Given the description of an element on the screen output the (x, y) to click on. 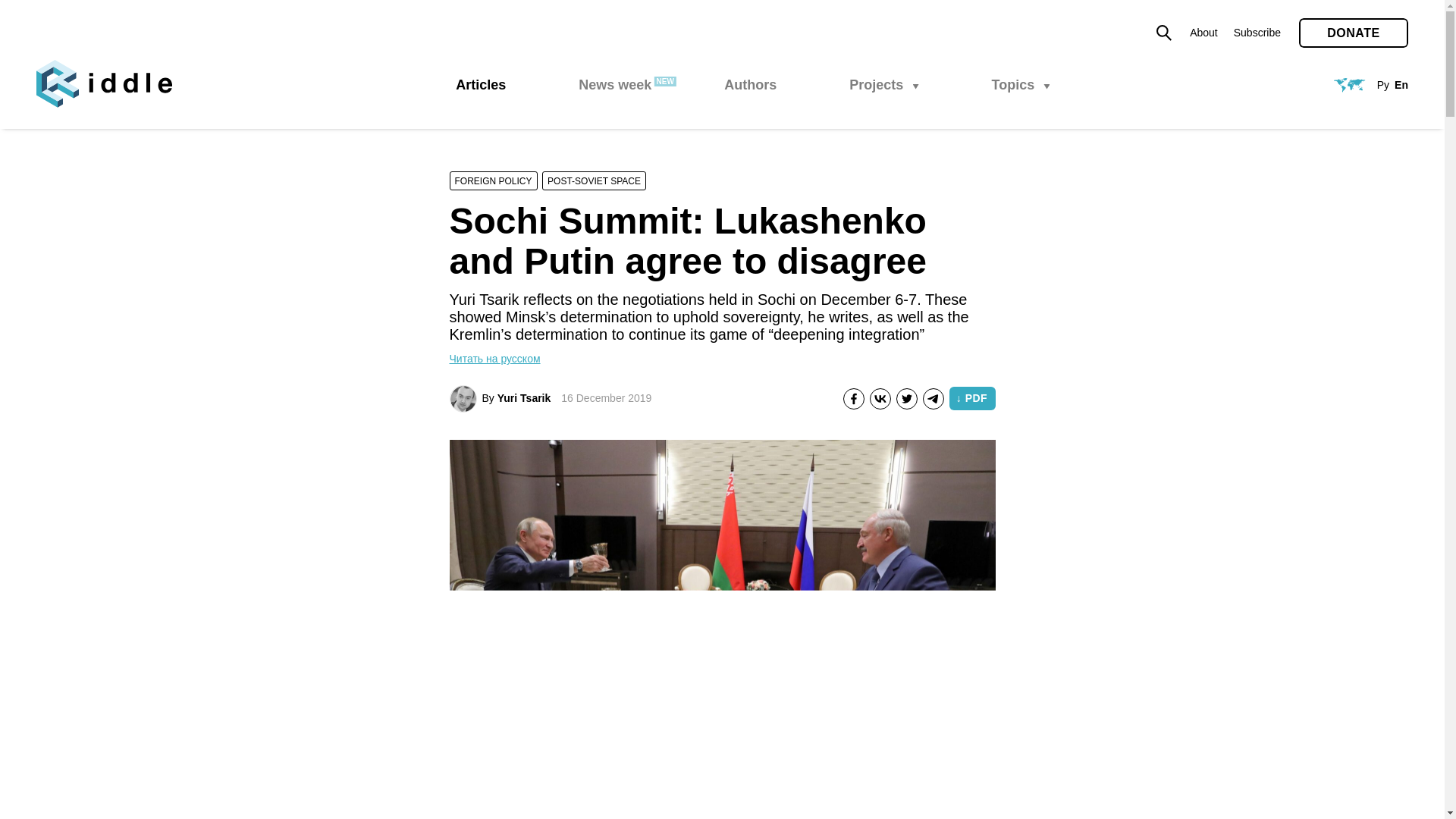
Projects (883, 84)
Topics (1020, 84)
Articles (480, 84)
News week (614, 84)
Subscribe (1257, 32)
Authors (749, 84)
About (1203, 32)
